Given the description of an element on the screen output the (x, y) to click on. 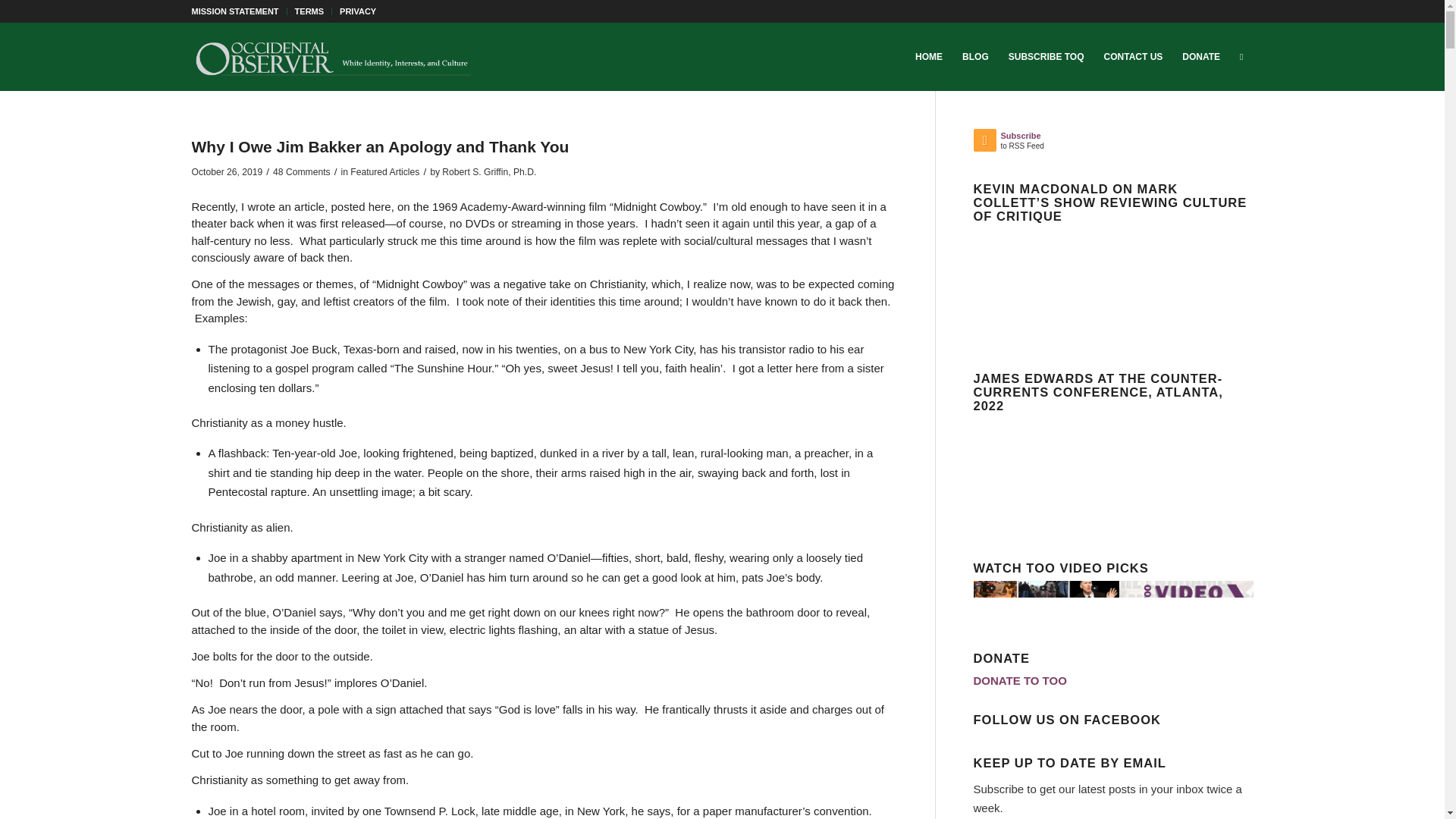
Contact Us (1133, 56)
CONTACT US (1133, 56)
PRIVACY (357, 11)
MISSION STATEMENT (234, 11)
Featured Articles (384, 172)
48 Comments (301, 172)
Posts by Robert S. Griffin, Ph.D. (488, 172)
SUBSCRIBE TOQ (1046, 56)
TERMS (309, 11)
Robert S. Griffin, Ph.D. (488, 172)
